Given the description of an element on the screen output the (x, y) to click on. 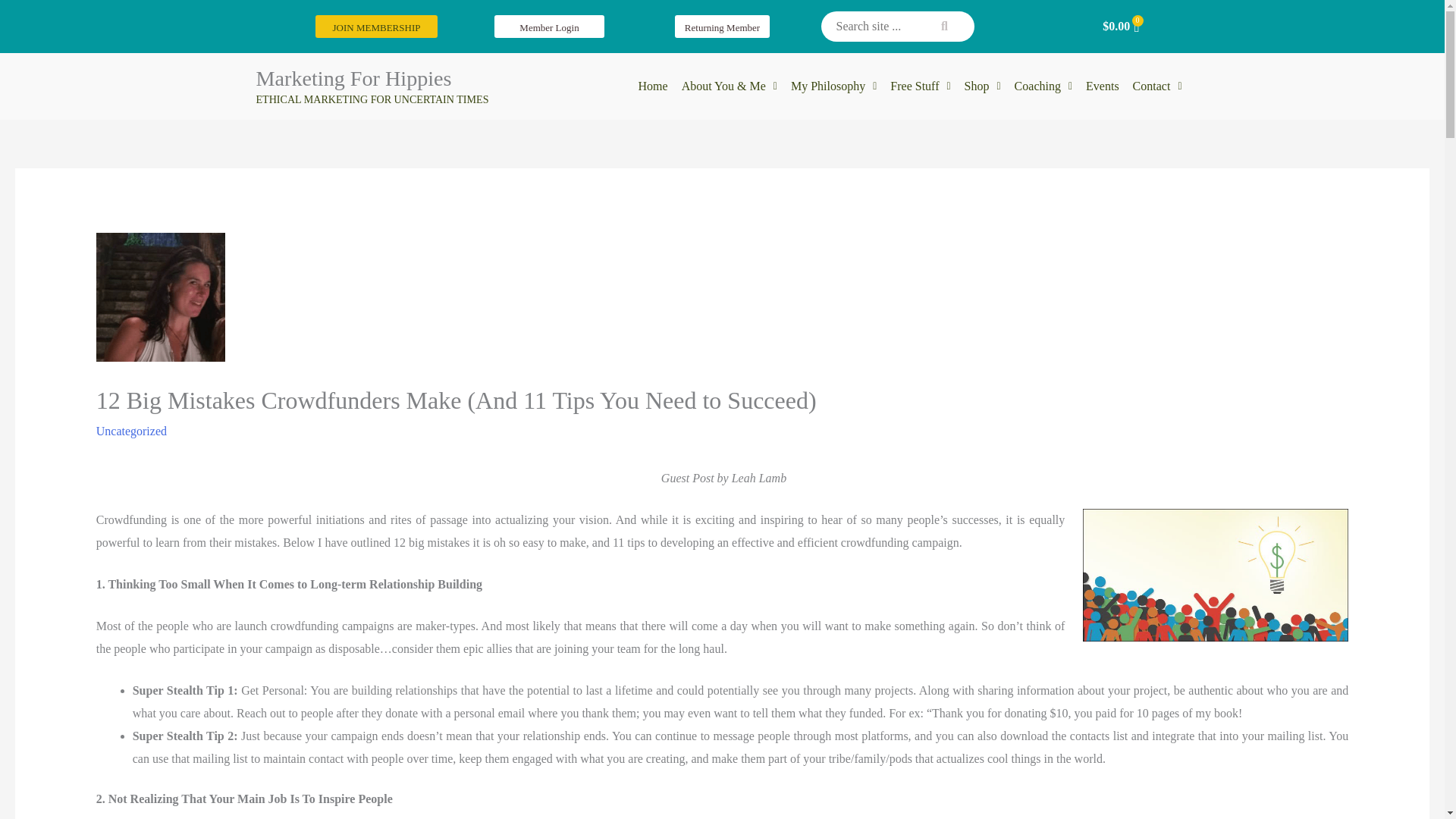
Member Login (549, 26)
JOIN MEMBERSHIP (376, 26)
ETHICAL MARKETING FOR UNCERTAIN TIMES (372, 99)
Home (653, 86)
Returning Member (722, 26)
Coaching (1042, 86)
Shop (982, 86)
Search (897, 26)
Free Stuff (919, 86)
Marketing For Hippies (353, 78)
